Given the description of an element on the screen output the (x, y) to click on. 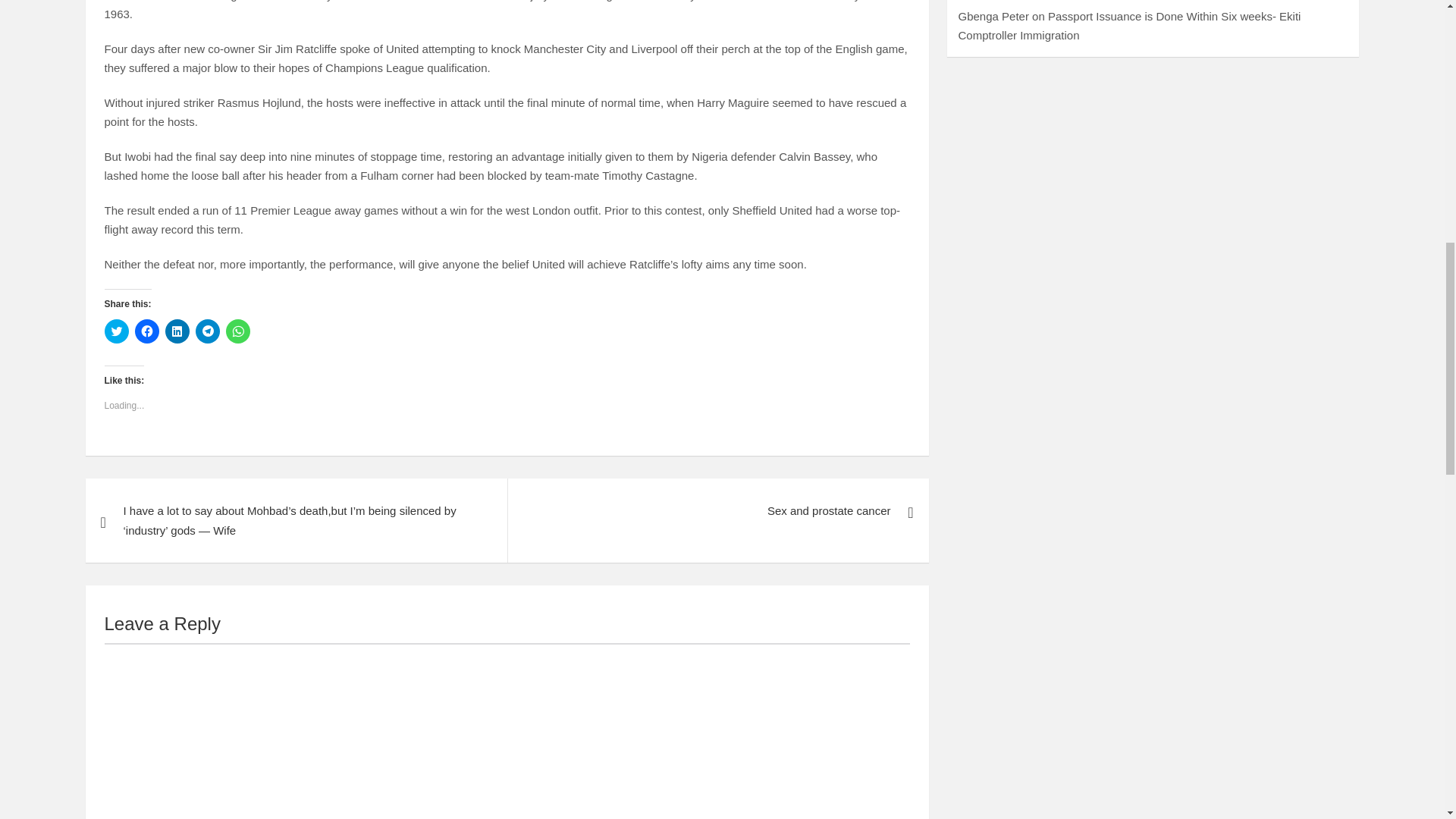
Click to share on WhatsApp (237, 331)
Click to share on Telegram (207, 331)
Click to share on Facebook (146, 331)
Click to share on Twitter (116, 331)
Click to share on LinkedIn (177, 331)
